Given the description of an element on the screen output the (x, y) to click on. 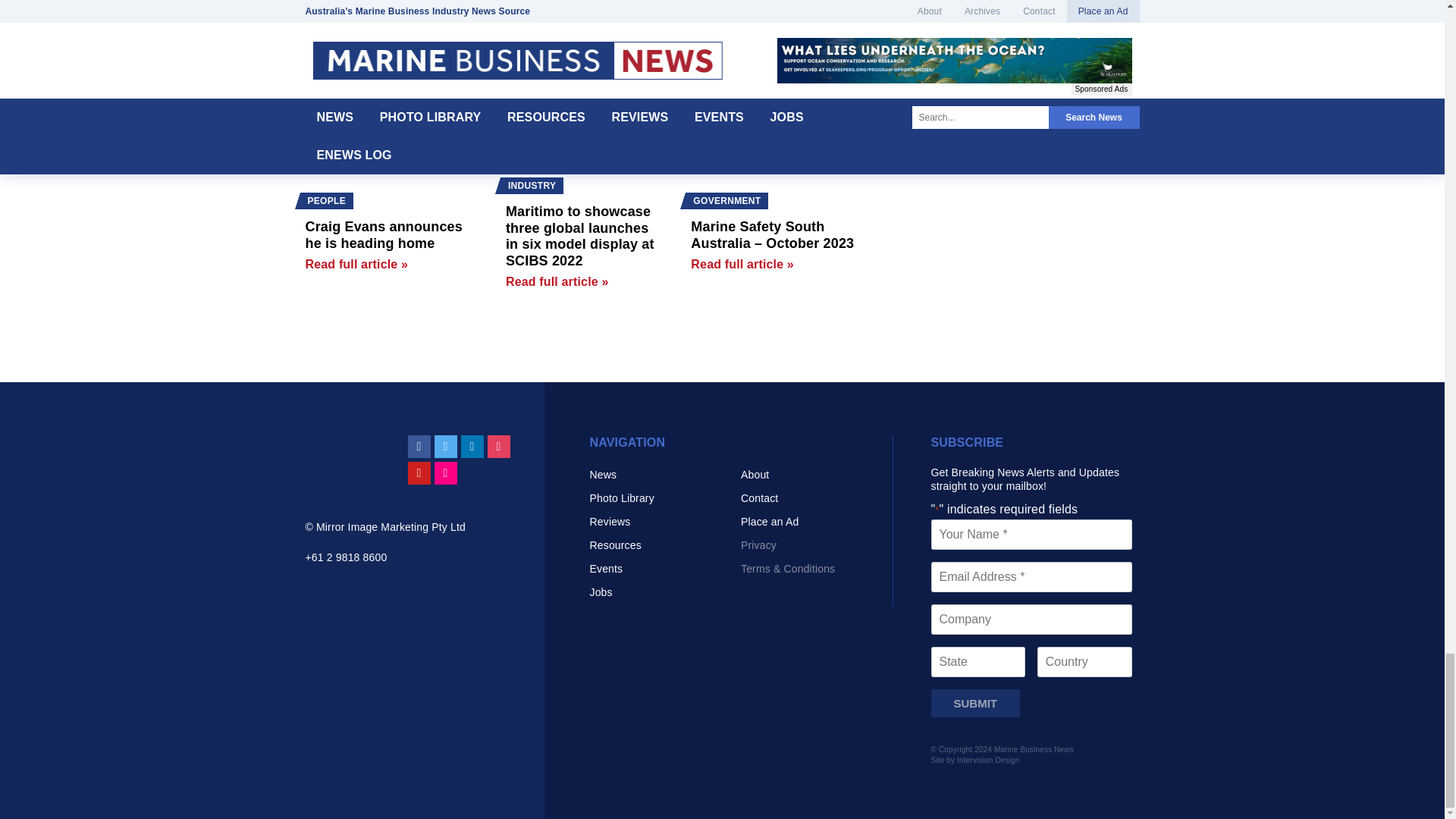
Submit (975, 703)
Intervision Design (987, 759)
